Given the description of an element on the screen output the (x, y) to click on. 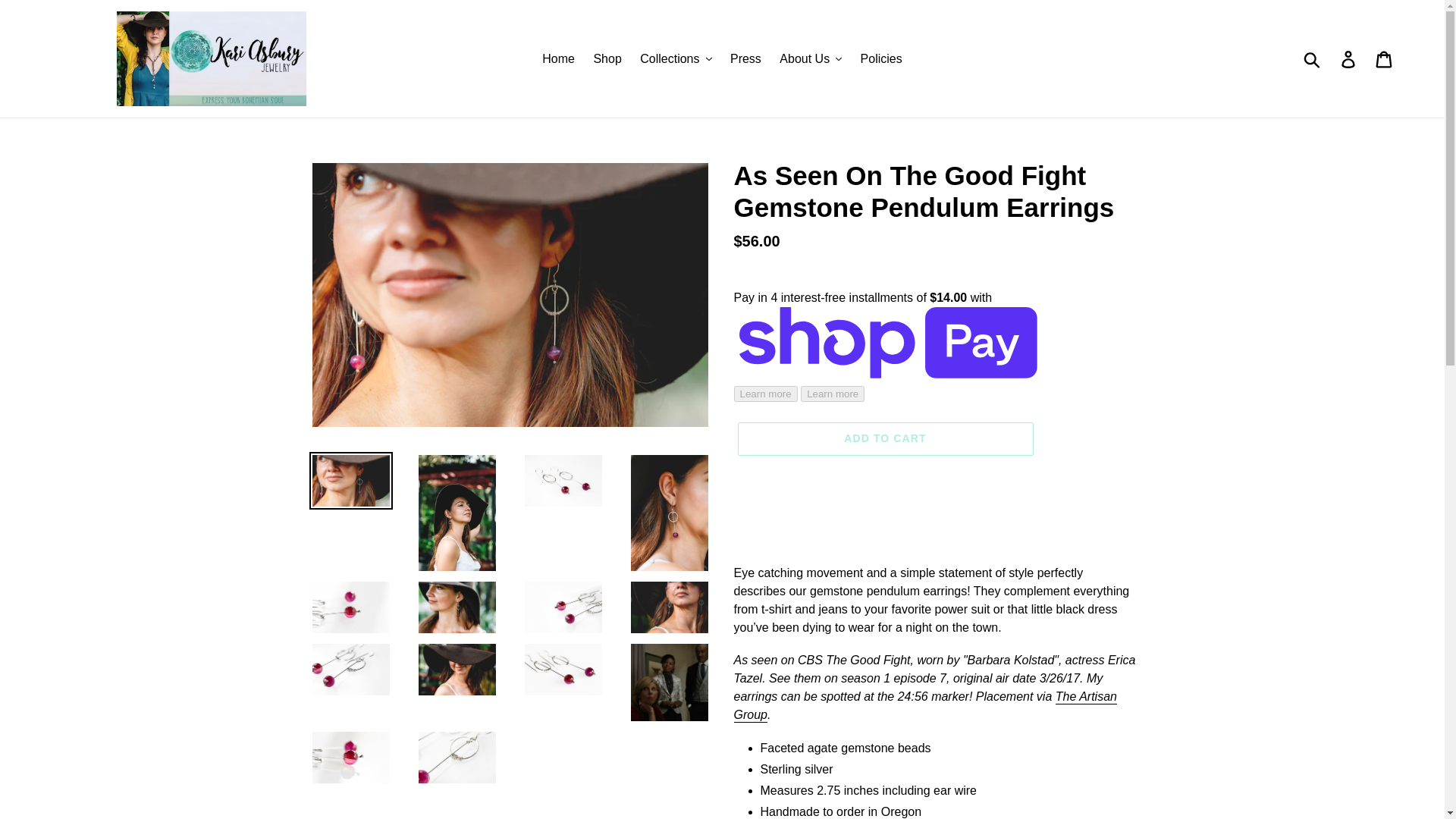
Policies (881, 57)
Submit (1313, 58)
Home (558, 57)
Cart (1385, 58)
Log in (1349, 58)
Press (745, 57)
Shop (606, 57)
